Given the description of an element on the screen output the (x, y) to click on. 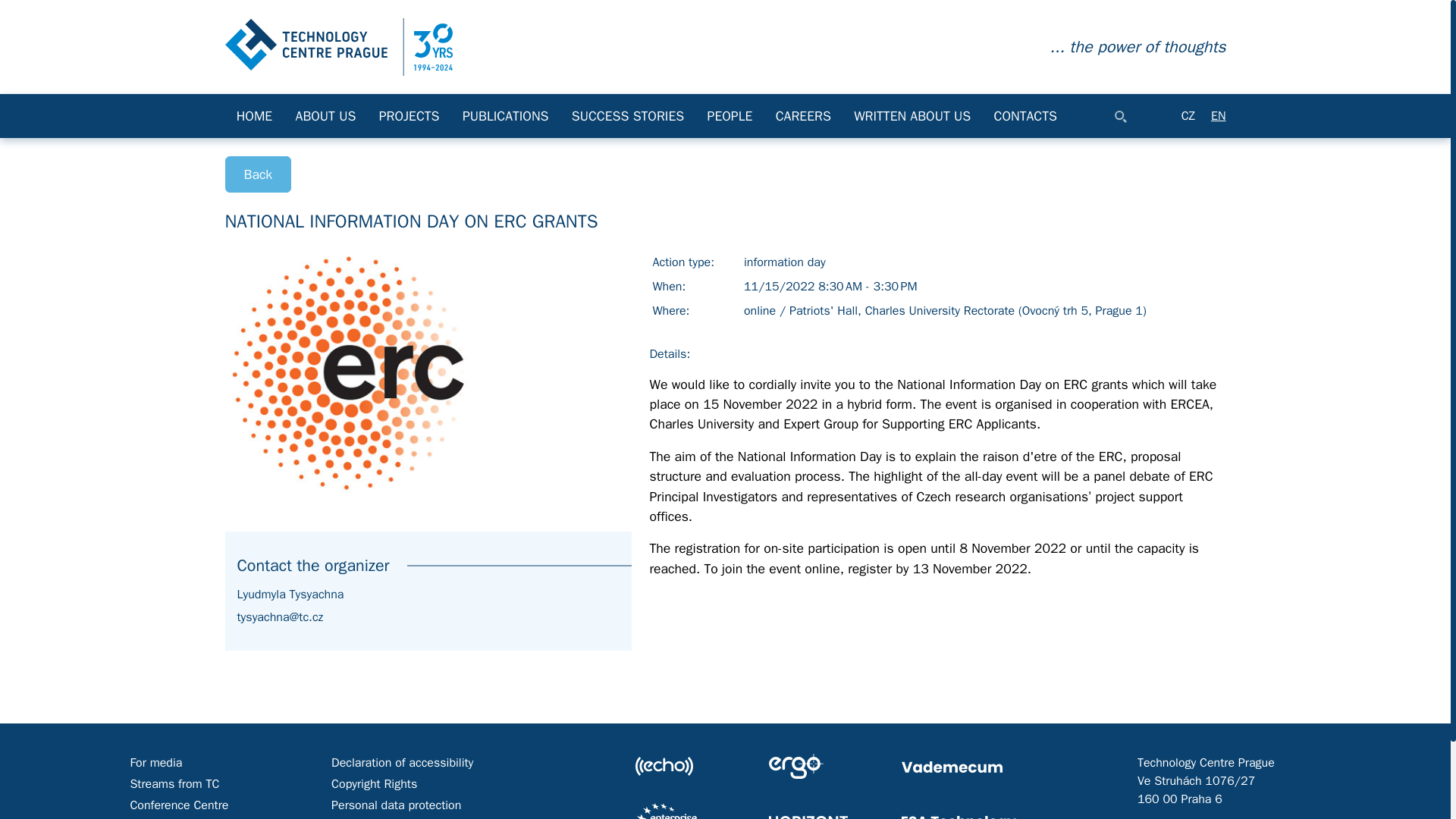
HOME (253, 116)
NATIONAL INFORMATION DAY ON ERC GRANTS (337, 46)
CONTACTS (1024, 116)
Declaration of accessibility (402, 762)
SUCCESS STORIES (627, 116)
WRITTEN ABOUT US (912, 116)
ABOUT US (324, 116)
For media (155, 762)
EN (1218, 115)
Streams from TC (174, 783)
Personal data protection (396, 805)
Back (257, 174)
PEOPLE (728, 116)
PUBLICATIONS (505, 116)
CAREERS (803, 116)
